Given the description of an element on the screen output the (x, y) to click on. 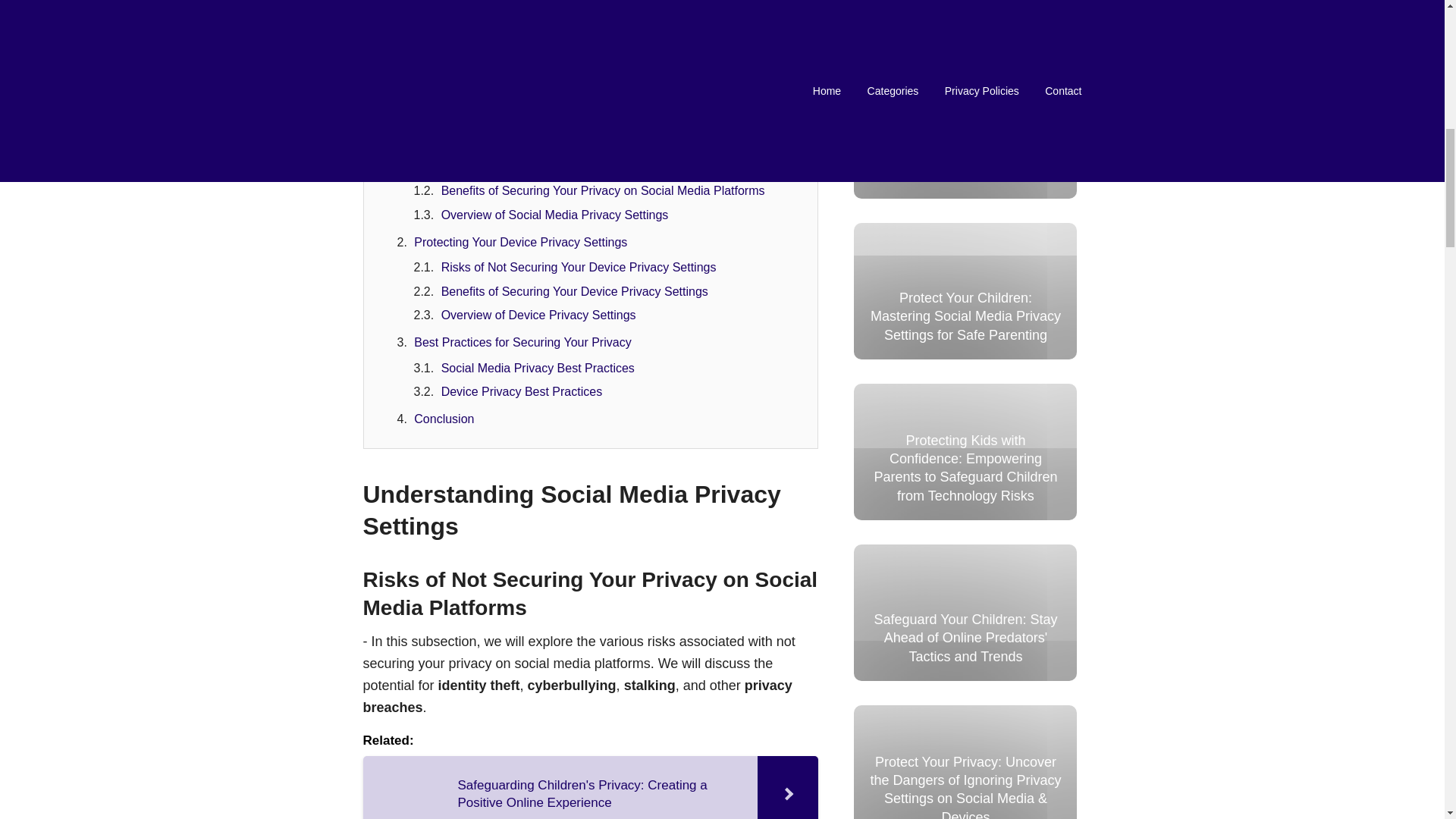
Risks of Not Securing Your Privacy on Social Media Platforms (607, 166)
Benefits of Securing Your Device Privacy Settings (574, 291)
Device Privacy Best Practices (521, 391)
Overview of Device Privacy Settings (538, 314)
Social Media Privacy Best Practices (537, 367)
Risks of Not Securing Your Device Privacy Settings (578, 267)
Benefits of Securing Your Privacy on Social Media Platforms (603, 190)
Social Media Privacy Best Practices (537, 367)
Risks of Not Securing Your Device Privacy Settings (578, 267)
Understanding Social Media Privacy Settings (534, 141)
